Given the description of an element on the screen output the (x, y) to click on. 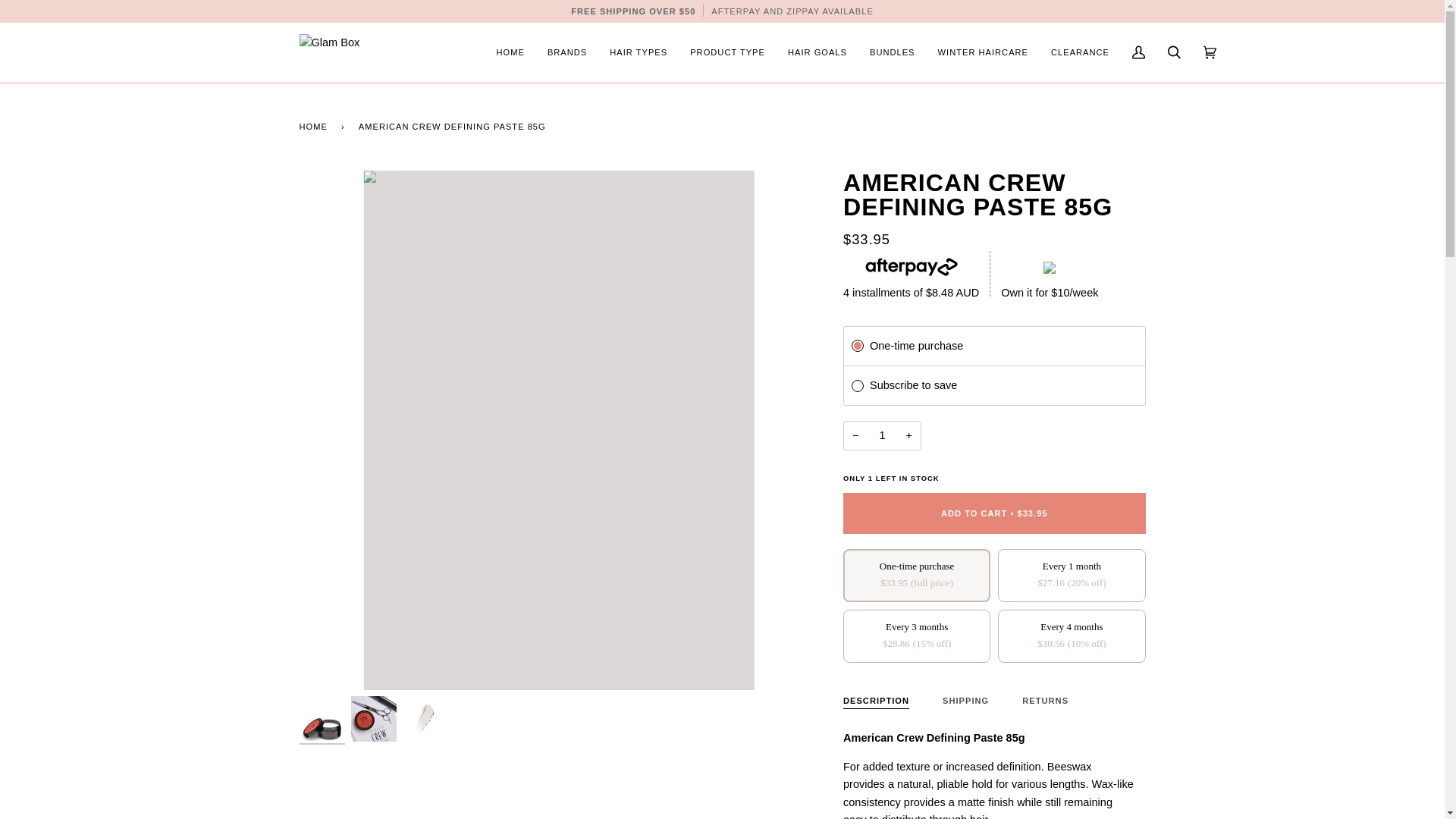
bc217b6c155c9d91f70a8858a88f3ea1355cd18f (857, 386)
Back to the frontpage (314, 126)
BRANDS (566, 52)
1 (882, 435)
